Given the description of an element on the screen output the (x, y) to click on. 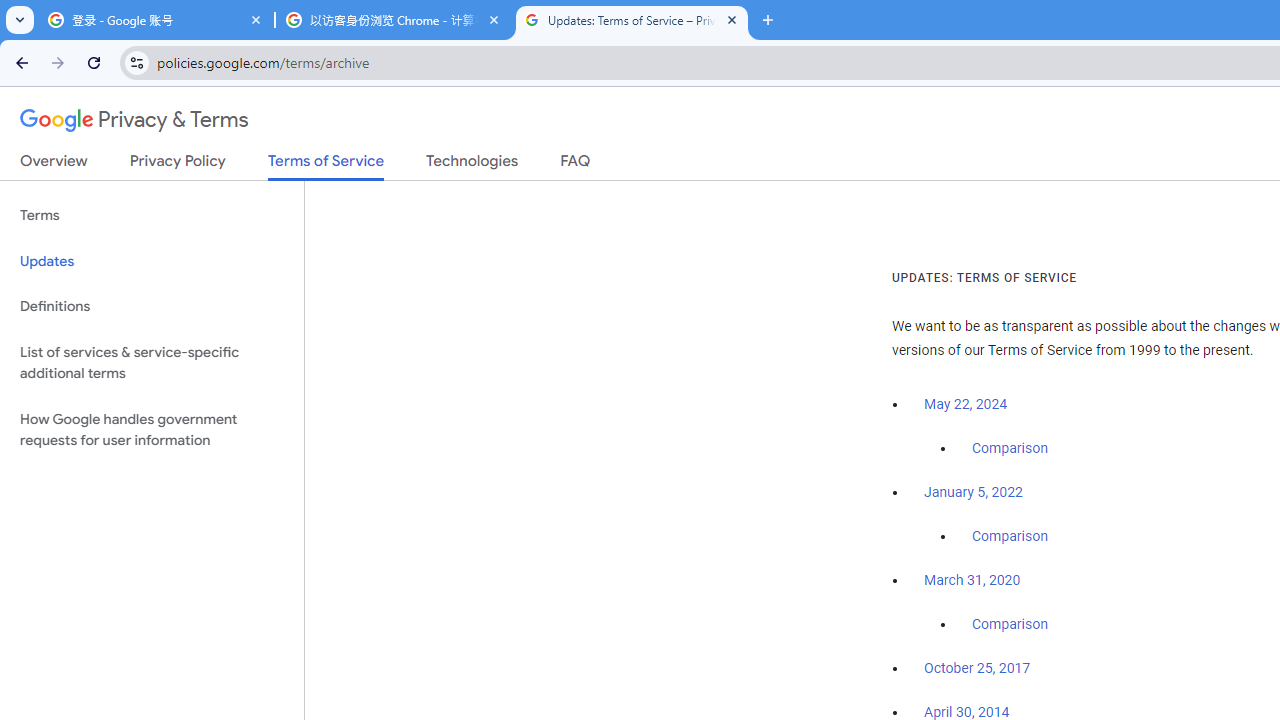
Definitions (152, 306)
Comparison (1009, 625)
January 5, 2022 (973, 492)
October 25, 2017 (977, 669)
